Given the description of an element on the screen output the (x, y) to click on. 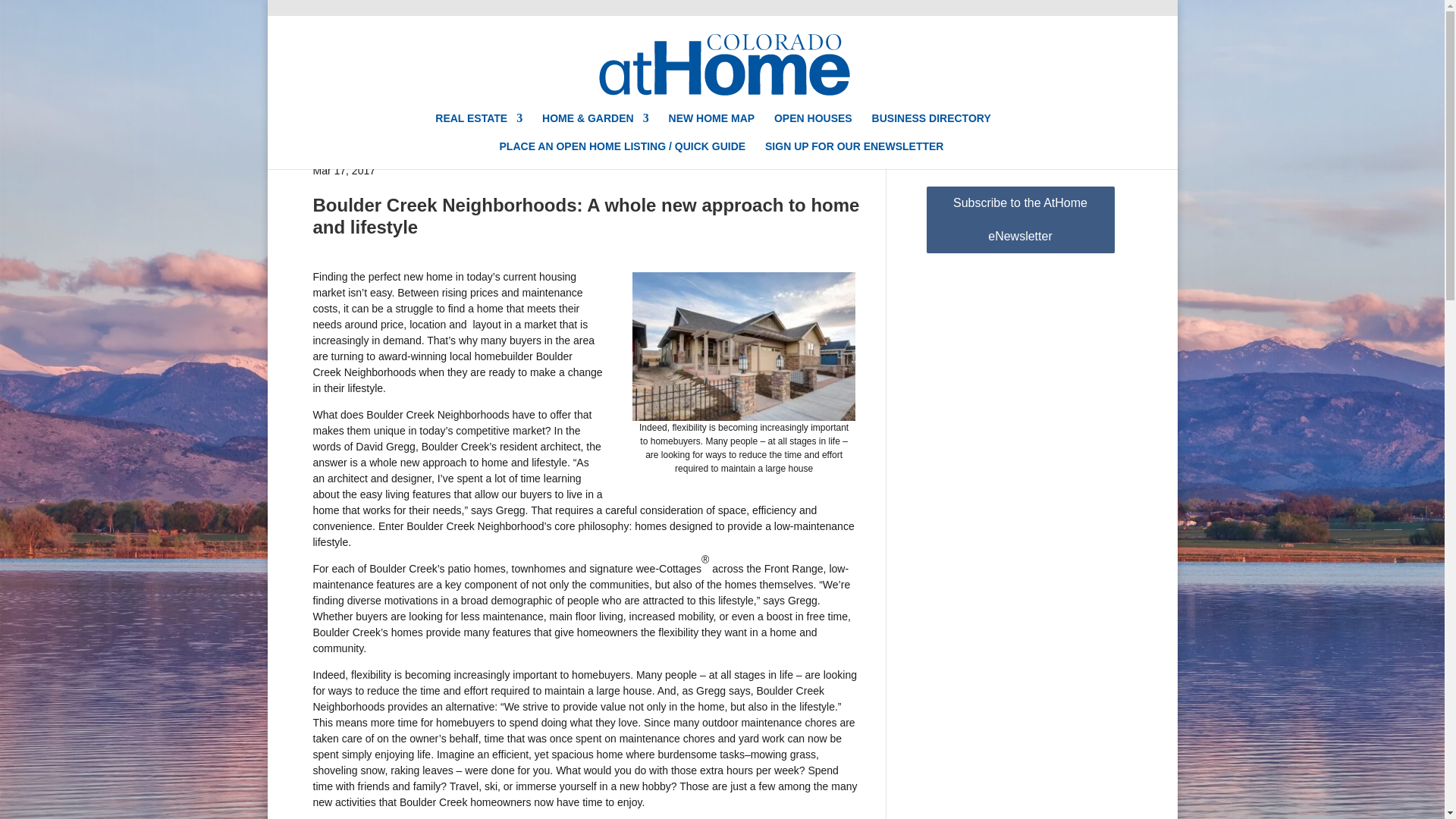
REAL ESTATE (478, 126)
SIGN UP FOR OUR ENEWSLETTER (854, 154)
BUSINESS DIRECTORY (931, 126)
NEW HOME MAP (711, 126)
OPEN HOUSES (812, 126)
